Given the description of an element on the screen output the (x, y) to click on. 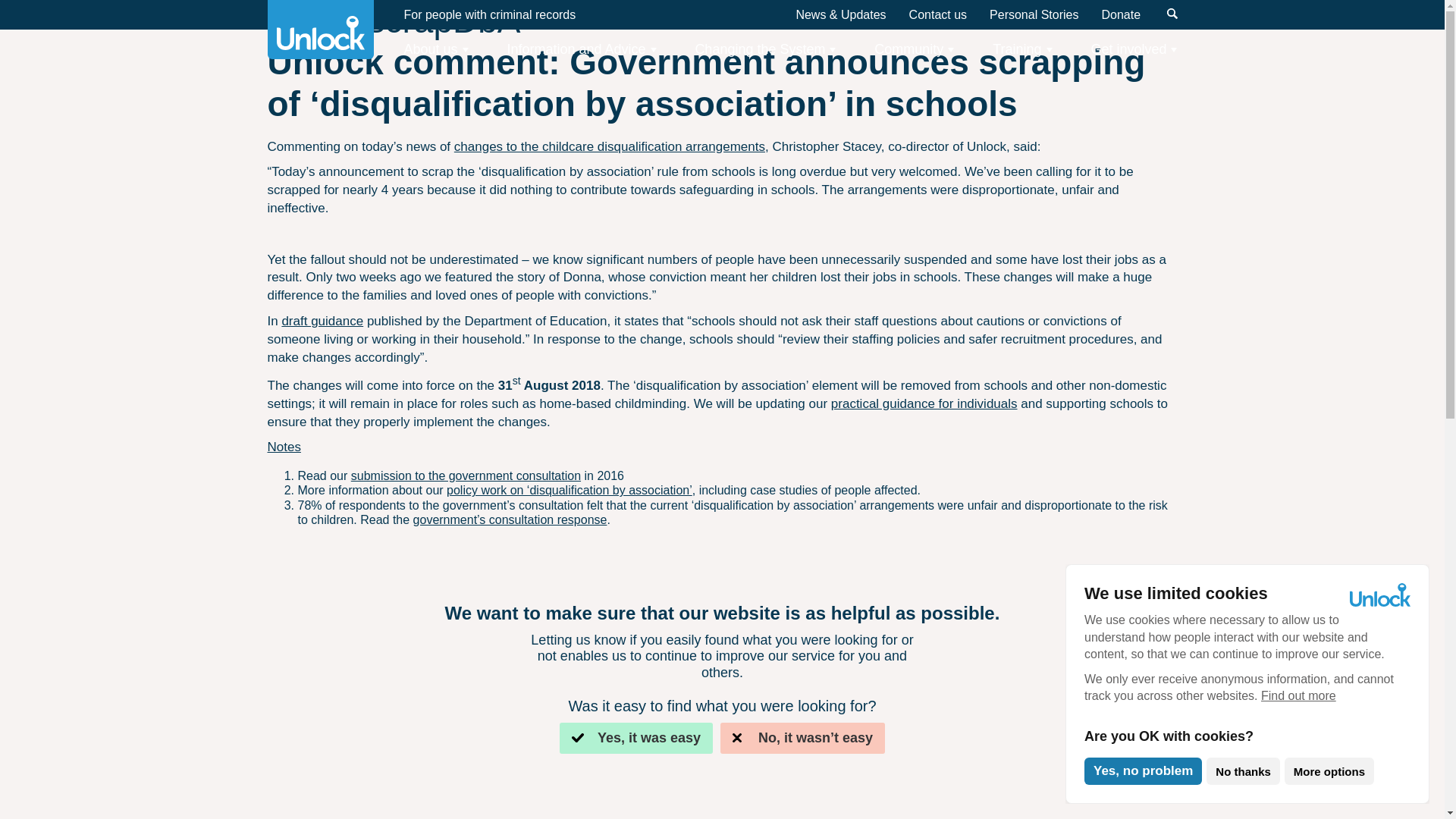
Contact us (937, 14)
Personal Stories (1034, 14)
Information and Advice (581, 49)
Changing the System (764, 49)
Donate (1120, 14)
About us (435, 49)
